Given the description of an element on the screen output the (x, y) to click on. 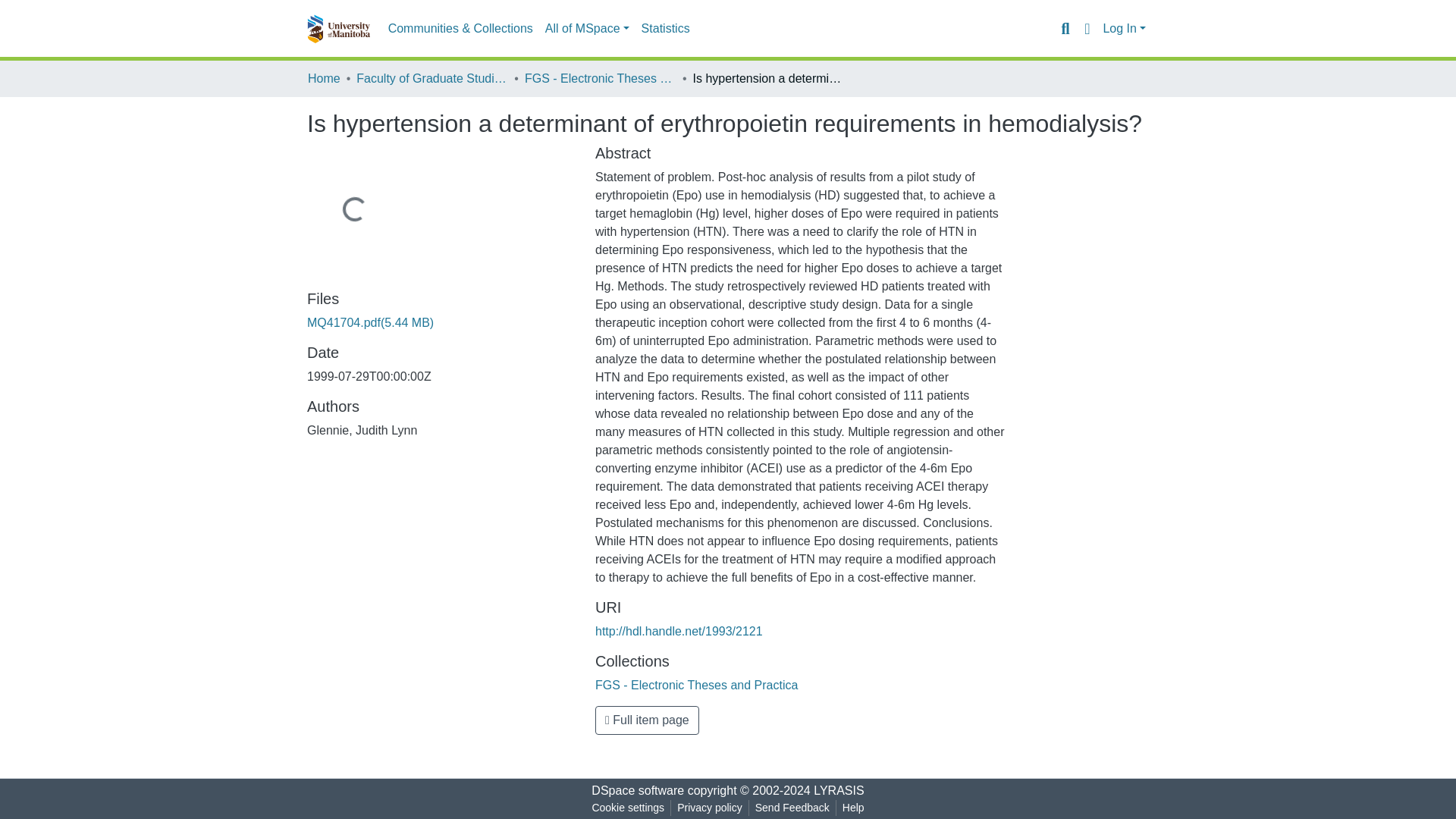
DSpace software (637, 789)
FGS - Electronic Theses and Practica (696, 684)
Send Feedback (792, 807)
Help (852, 807)
Statistics (664, 28)
Language switch (1086, 28)
Privacy policy (709, 807)
FGS - Electronic Theses and Practica (600, 78)
Cookie settings (627, 807)
Statistics (664, 28)
